Given the description of an element on the screen output the (x, y) to click on. 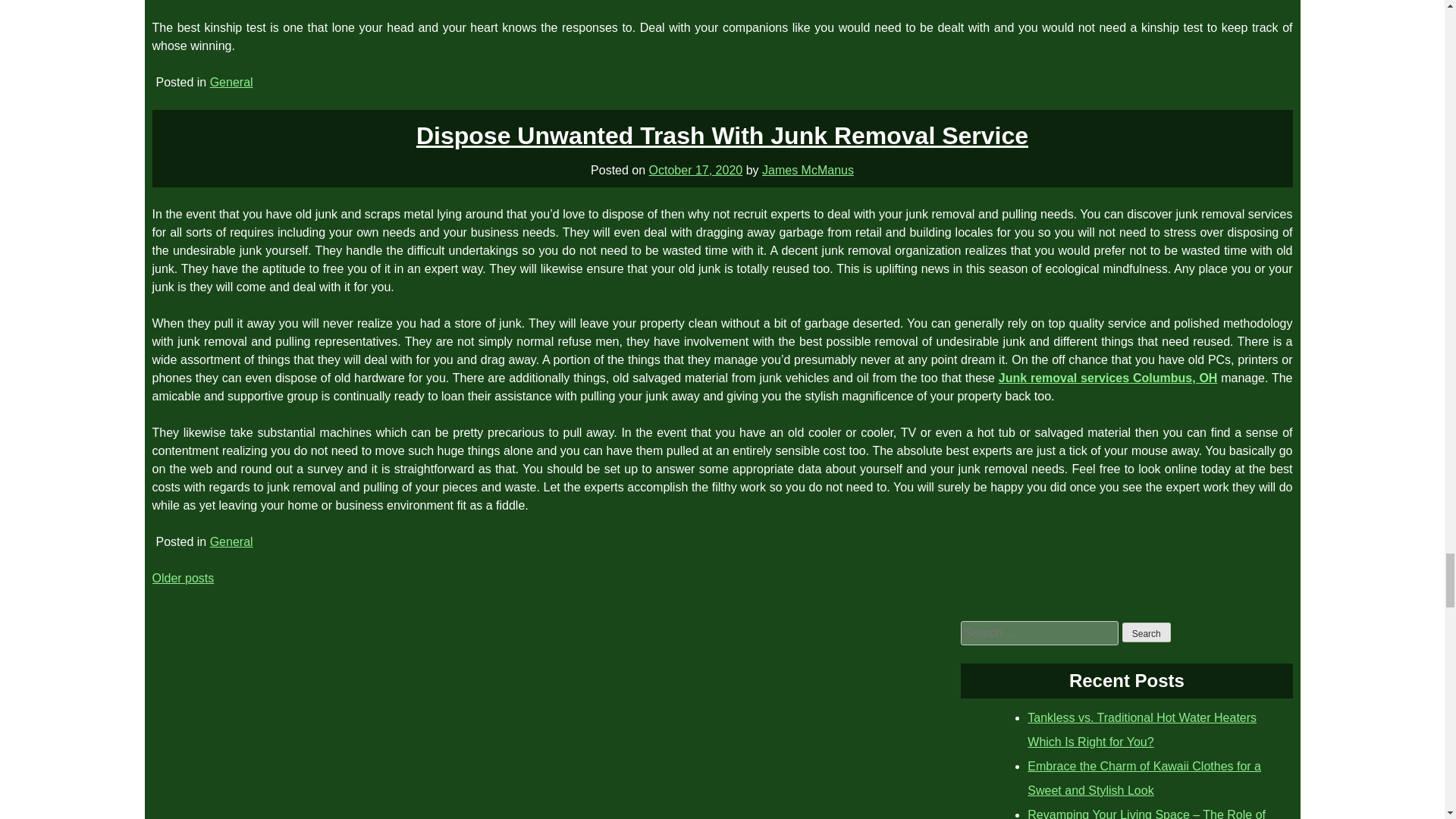
Search (1146, 632)
Search (1146, 632)
